Given the description of an element on the screen output the (x, y) to click on. 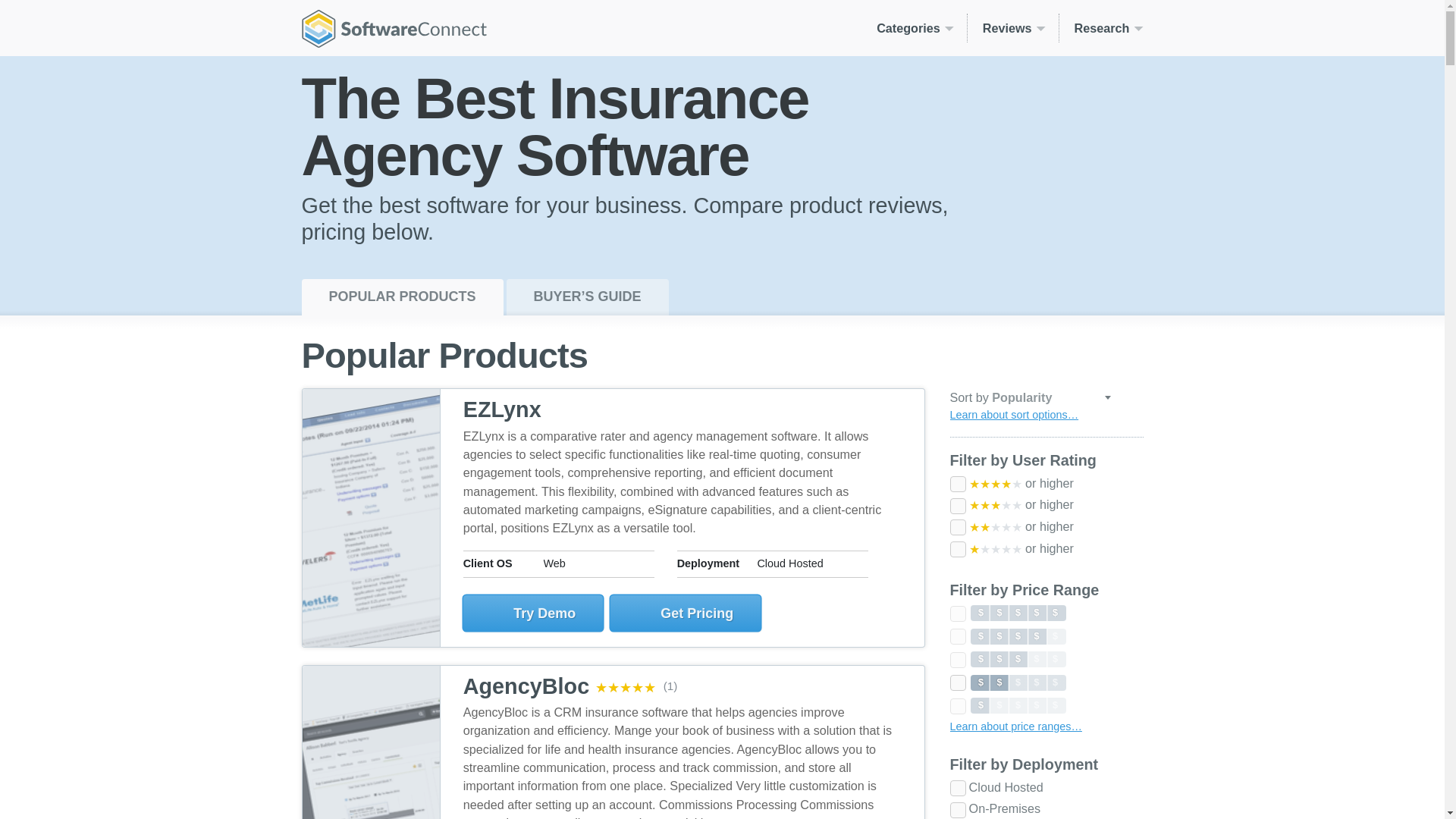
1 (957, 549)
5 (957, 613)
Categories (914, 27)
onPremises (957, 810)
3 (957, 505)
3 (957, 659)
1 (957, 706)
2 (957, 682)
2 (957, 527)
cloud (957, 788)
4 (957, 636)
4 (957, 483)
Research (1100, 27)
Reviews (1013, 27)
